Given the description of an element on the screen output the (x, y) to click on. 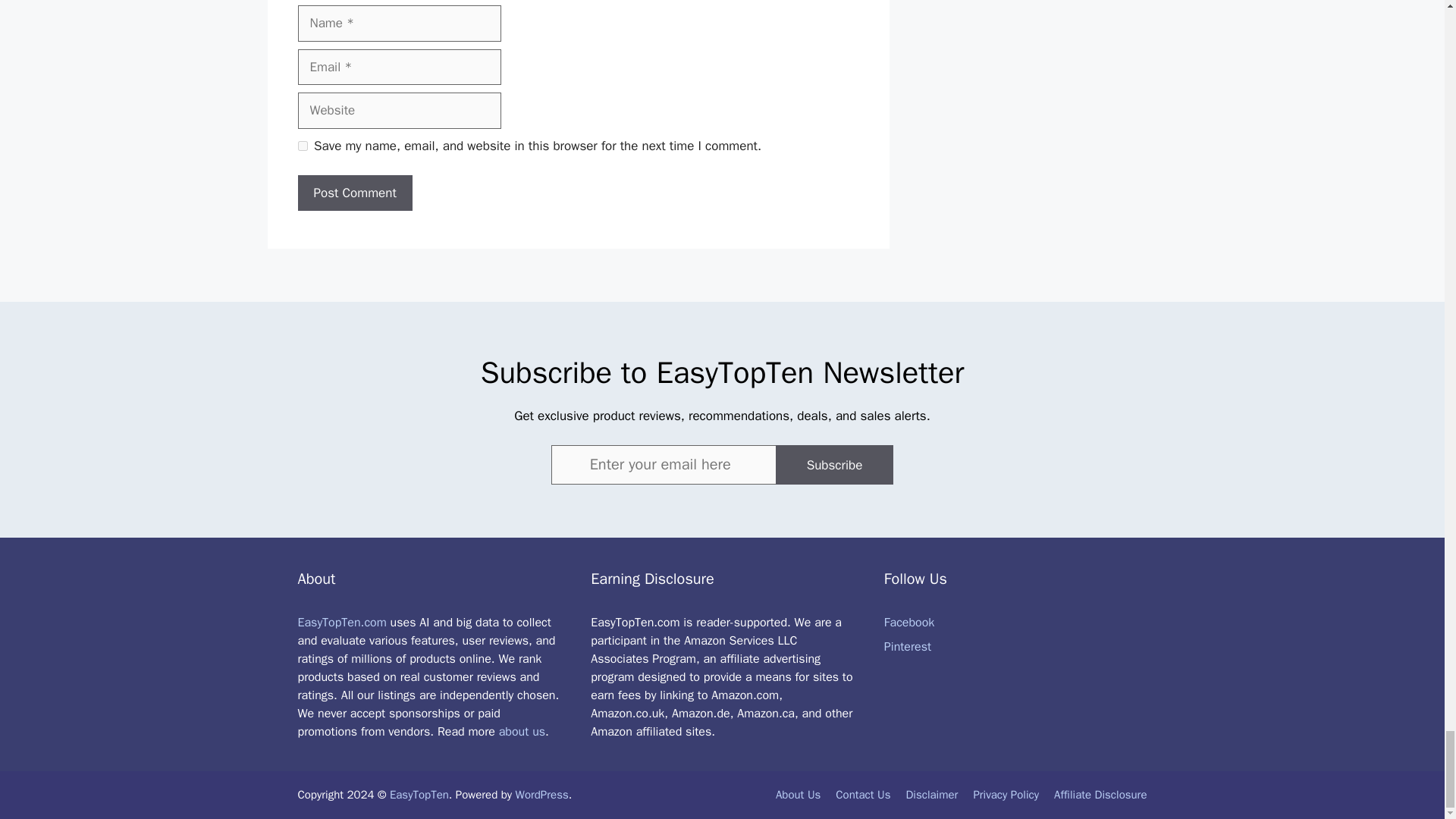
yes (302, 145)
about us (521, 731)
Subscribe (834, 464)
Post Comment (354, 193)
Subscribe (834, 464)
EasyTopTen.com (341, 622)
Post Comment (354, 193)
